Given the description of an element on the screen output the (x, y) to click on. 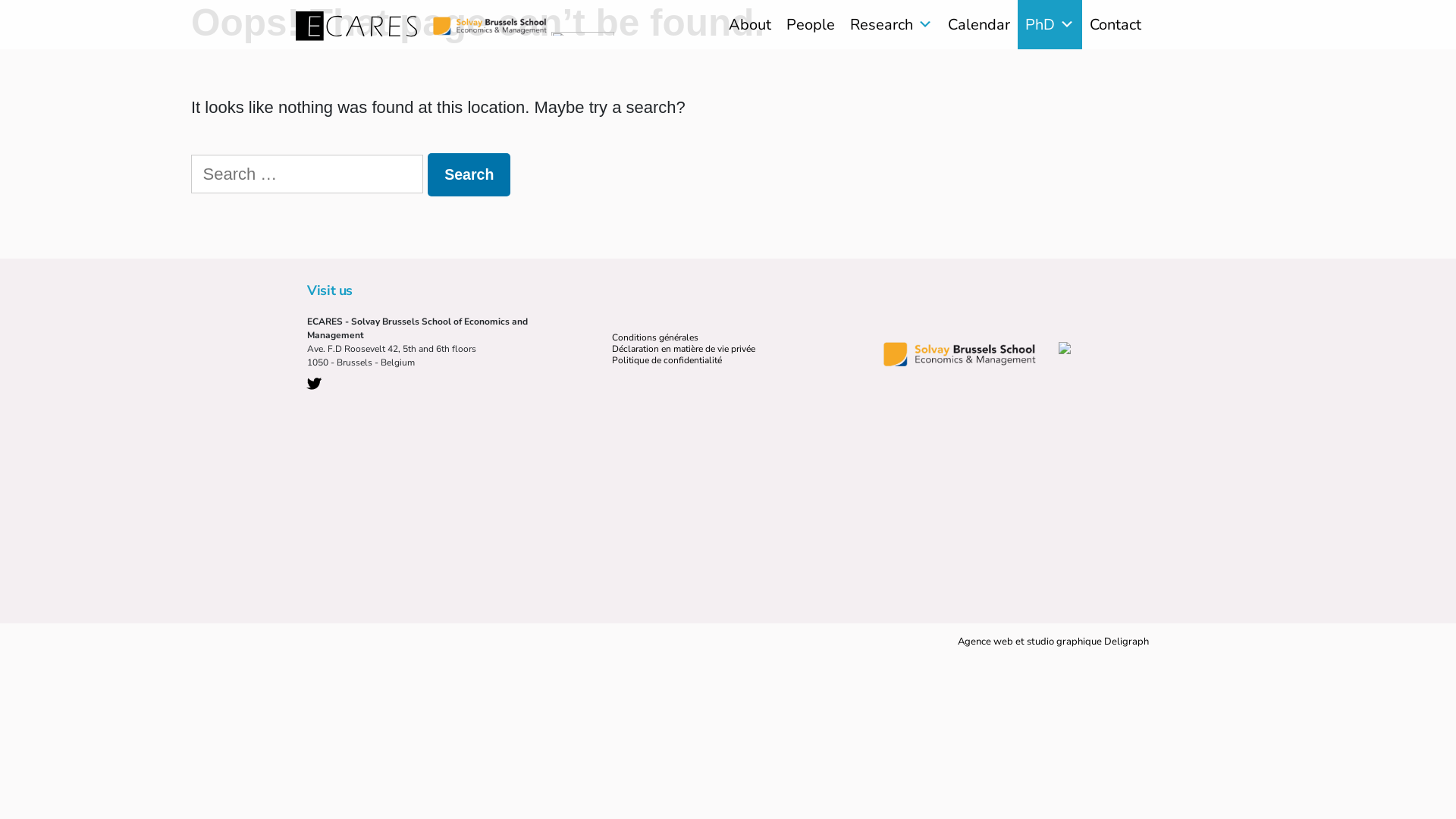
Agence web et studio graphique Deligraph Element type: text (1052, 641)
Calendar Element type: text (978, 24)
About Element type: text (749, 24)
People Element type: text (810, 24)
Contact Element type: text (1115, 24)
Search Element type: text (468, 174)
Research Element type: text (891, 24)
PhD Element type: text (1049, 24)
